Given the description of an element on the screen output the (x, y) to click on. 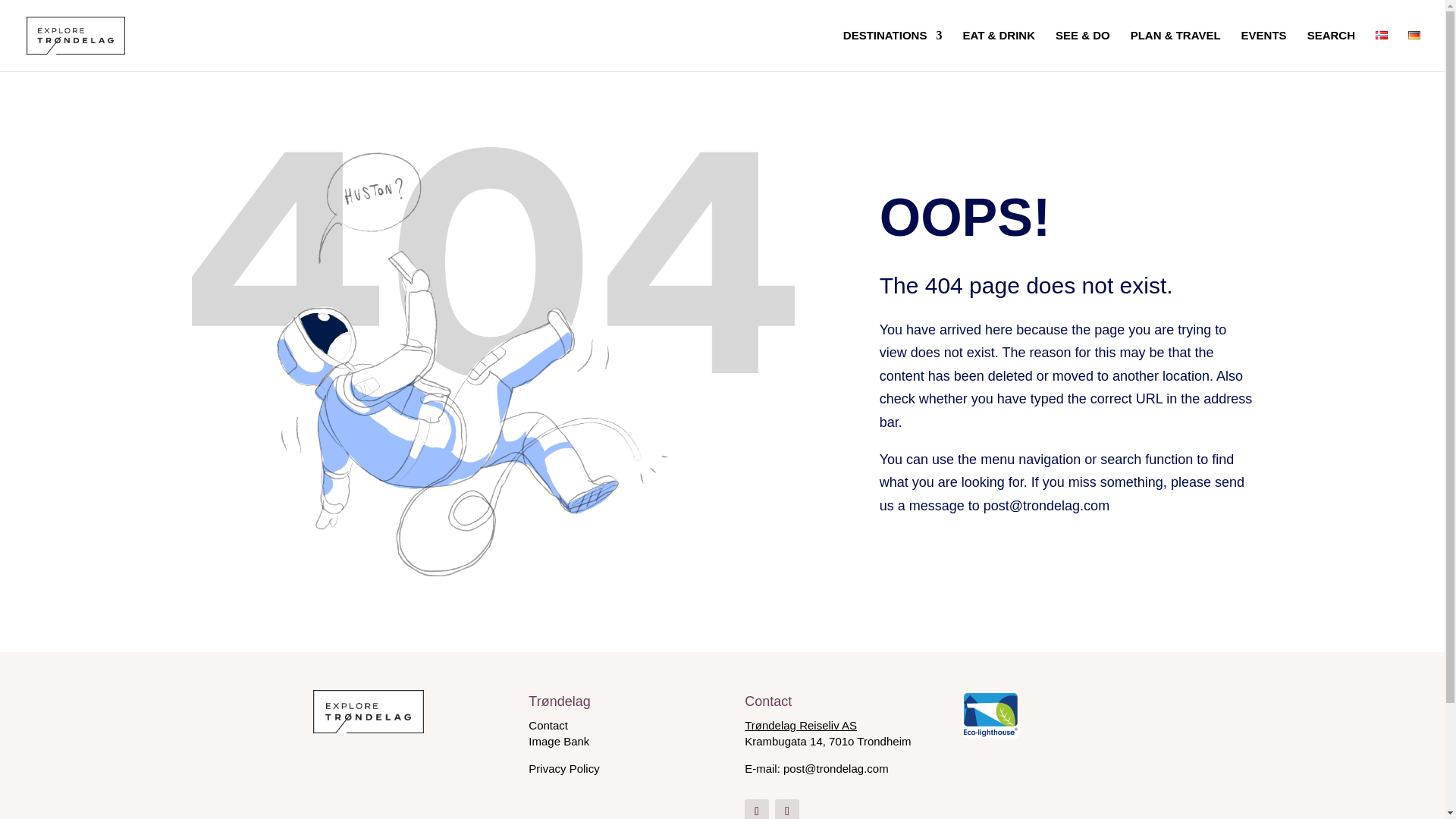
Image Bank (558, 740)
Follow on Instagram (786, 809)
Contact (547, 725)
Follow on Facebook (756, 809)
EVENTS (1264, 50)
Privacy Policy (563, 768)
DESTINATIONS (892, 50)
SEARCH (1331, 50)
